Given the description of an element on the screen output the (x, y) to click on. 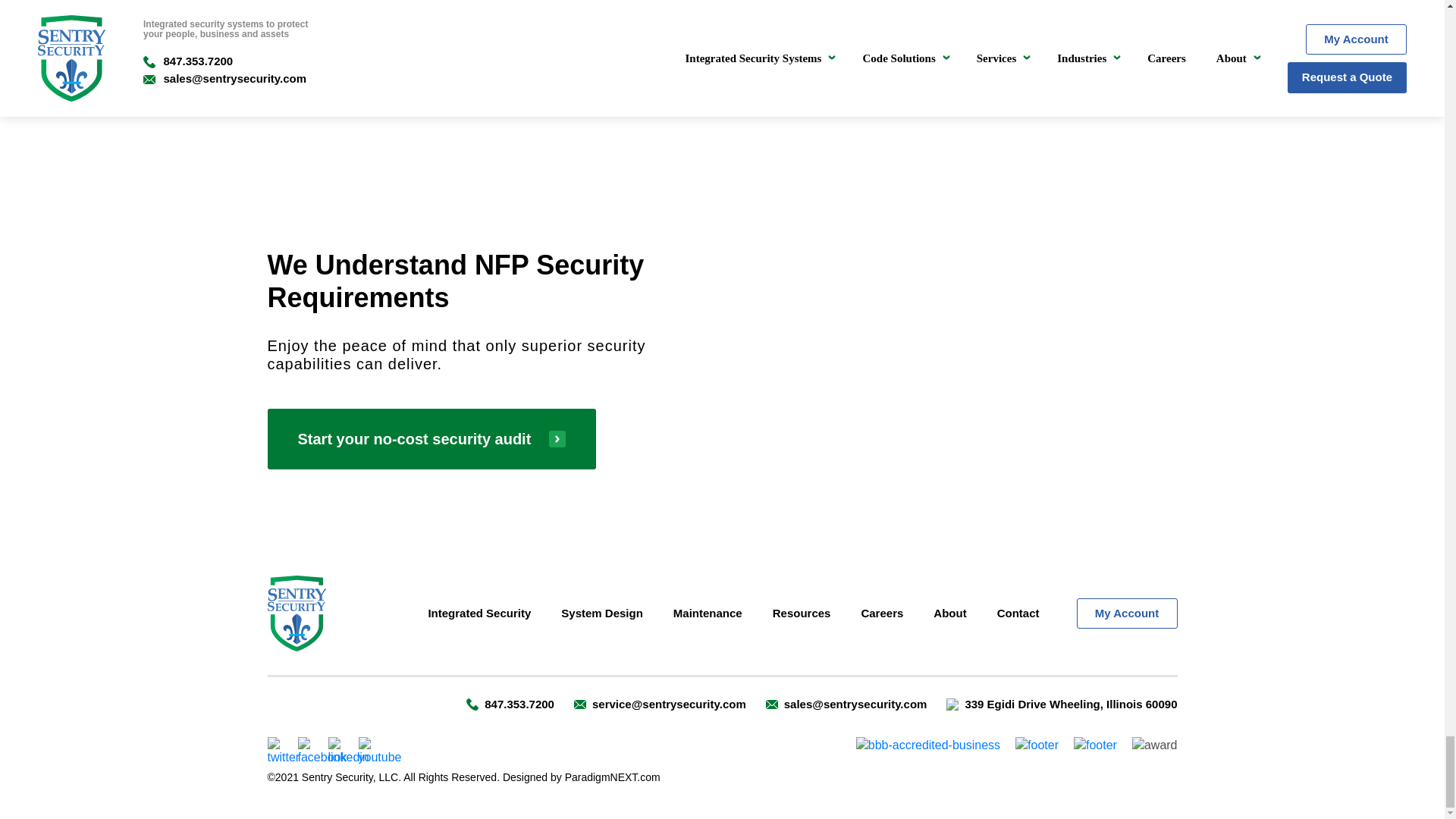
LinkedIn (347, 751)
Facebook (321, 751)
YouTube (379, 751)
